Given the description of an element on the screen output the (x, y) to click on. 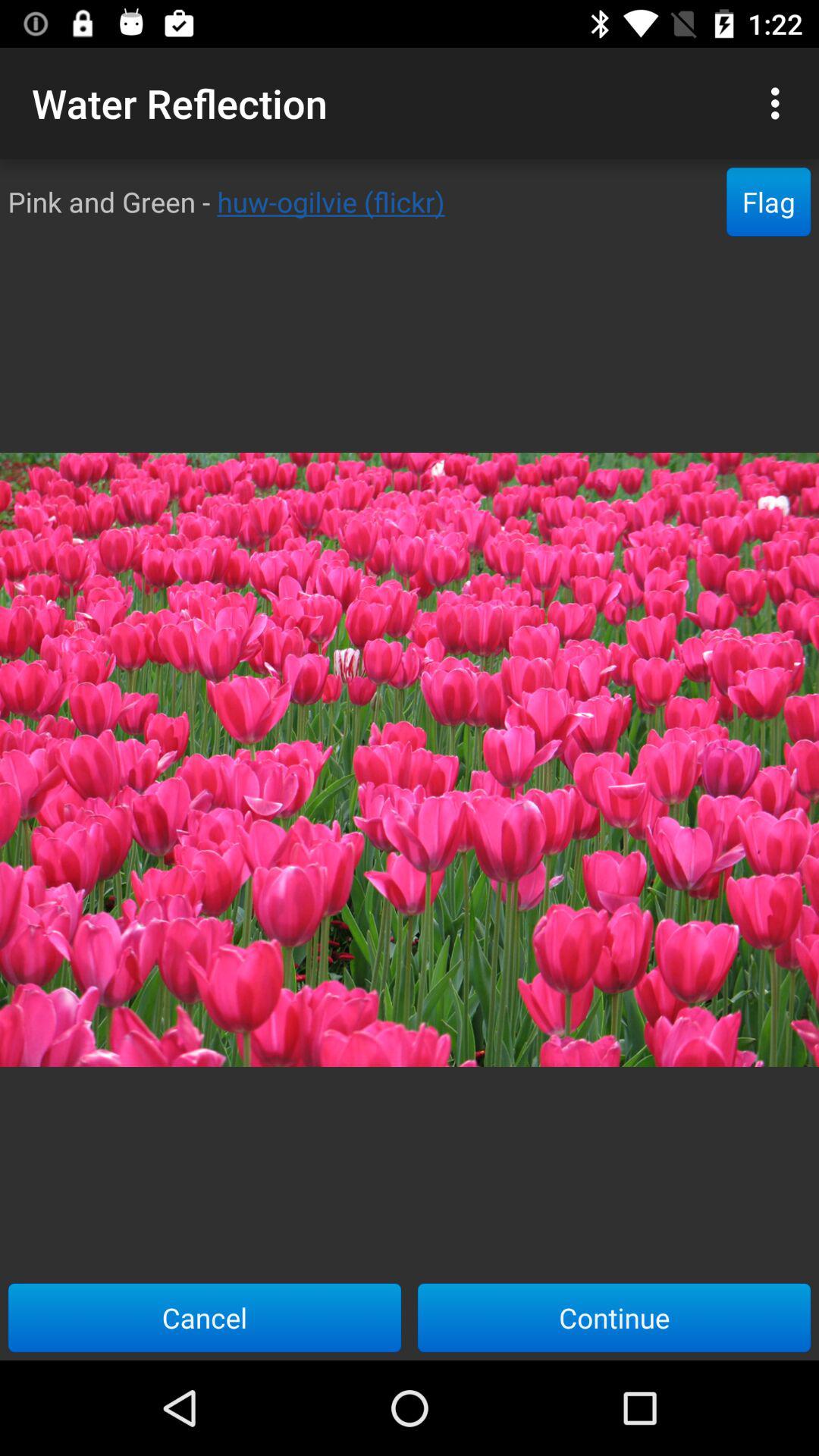
click flag item (768, 201)
